Given the description of an element on the screen output the (x, y) to click on. 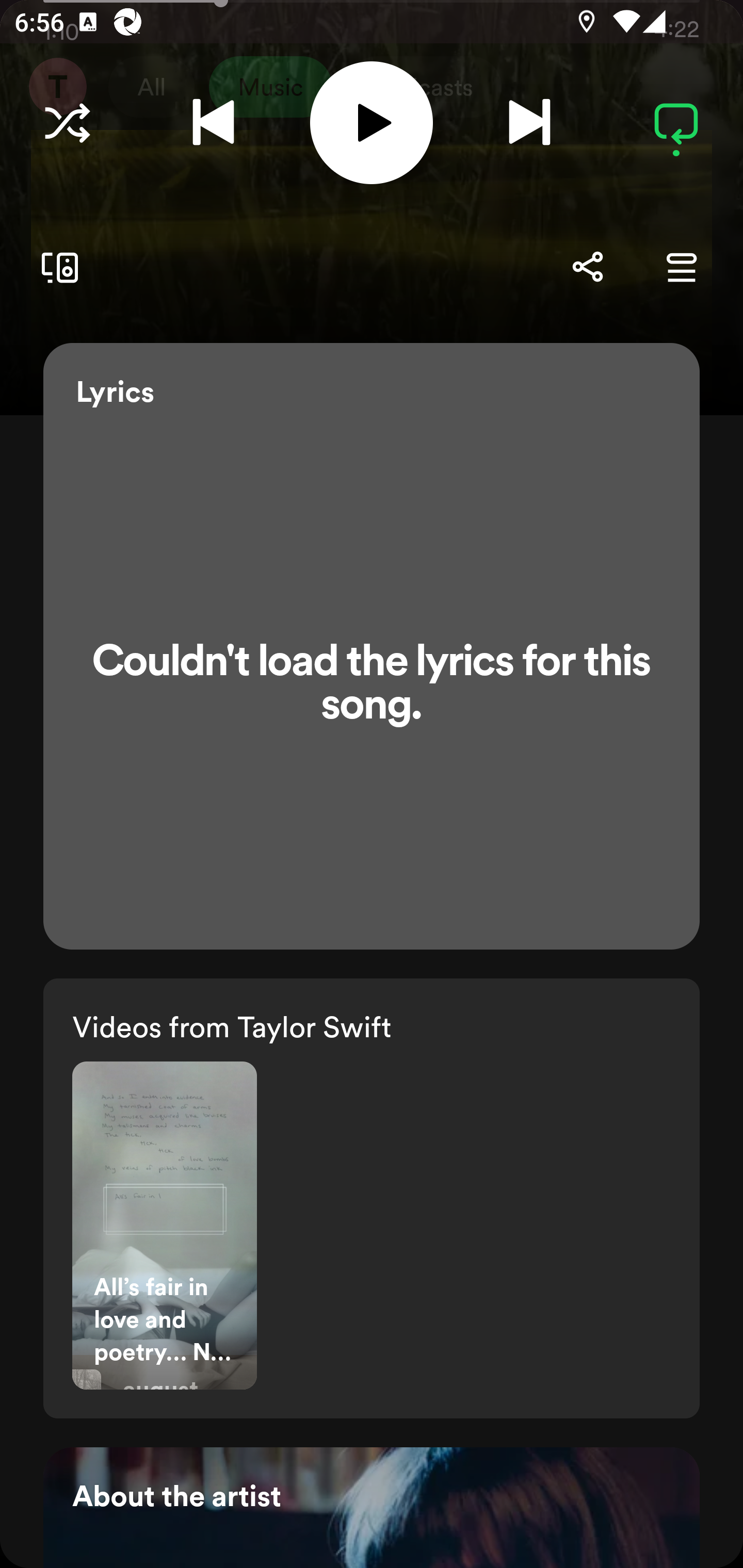
Play (371, 122)
Previous (212, 122)
Next (529, 122)
Choose a Listening Mode (66, 122)
Repeat (676, 122)
Share (587, 267)
Go to Queue (681, 267)
Connect to a device. Opens the devices menu (55, 266)
